Given the description of an element on the screen output the (x, y) to click on. 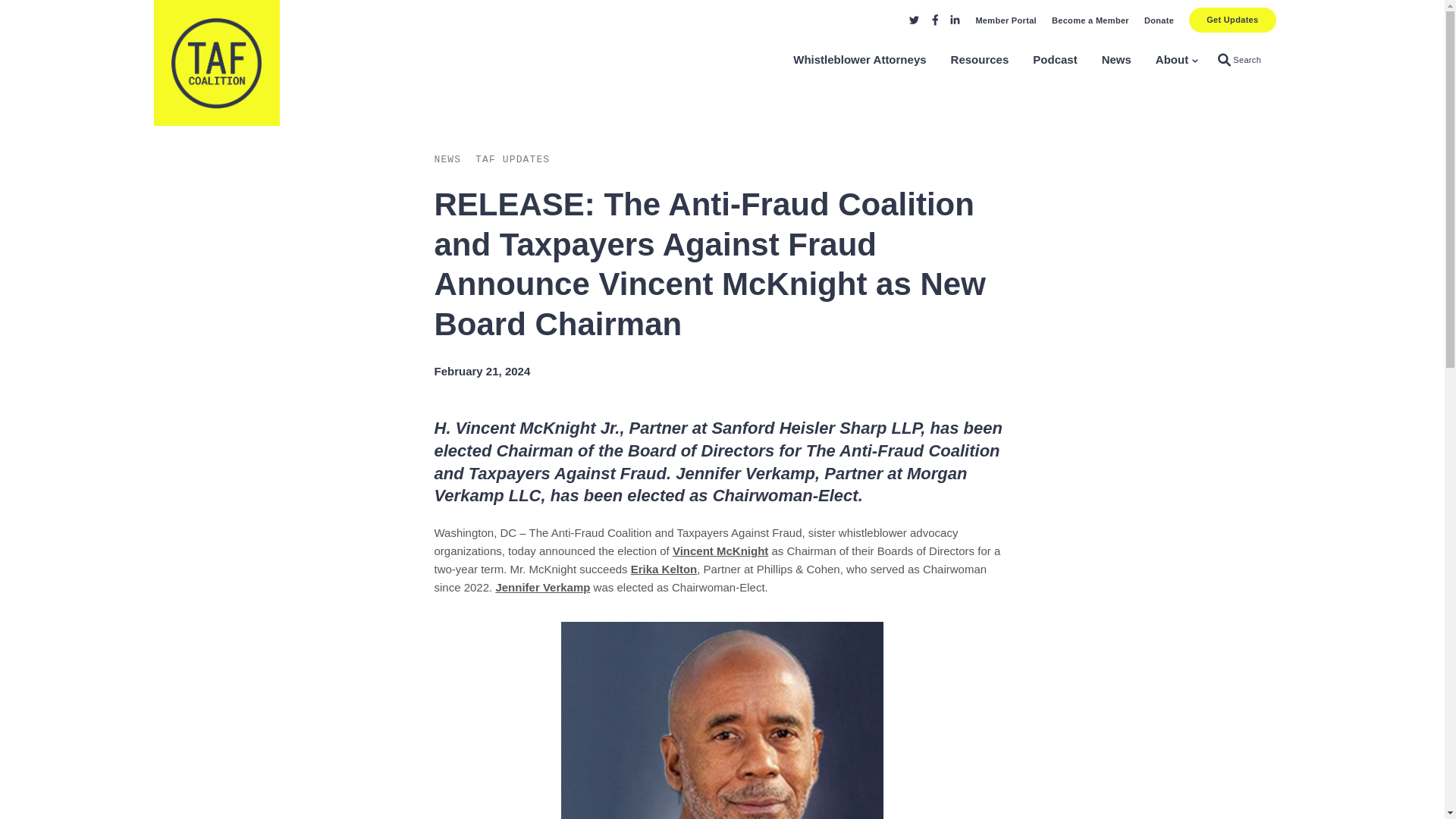
Become a Member (1090, 20)
About (1172, 60)
Resources (979, 60)
Get Updates (1232, 19)
Vincent McKnight (720, 550)
Whistleblower Attorneys (1238, 60)
Erika Kelton (859, 60)
News (663, 568)
Podcast (1116, 60)
